Given the description of an element on the screen output the (x, y) to click on. 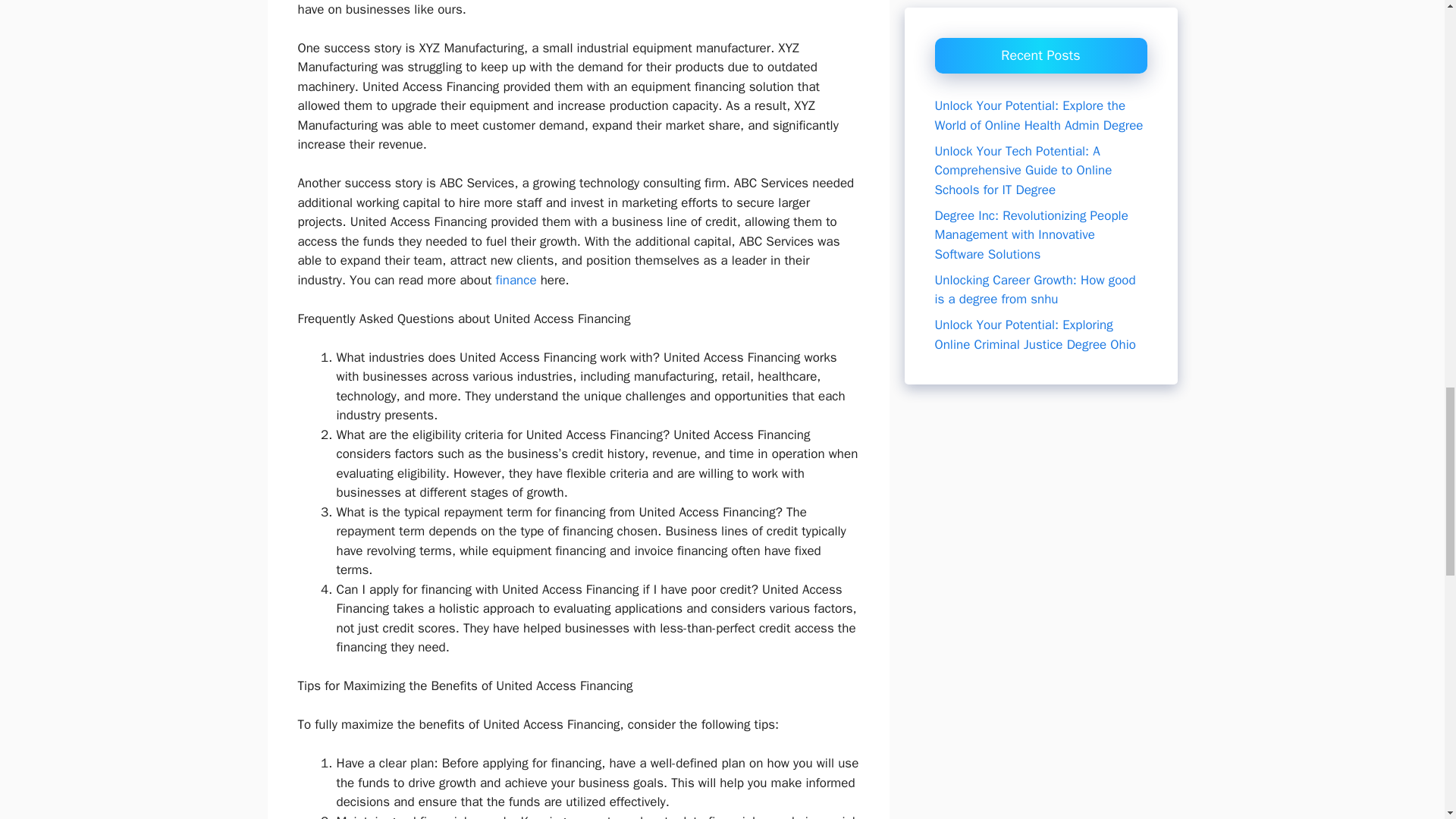
finance (516, 279)
